Given the description of an element on the screen output the (x, y) to click on. 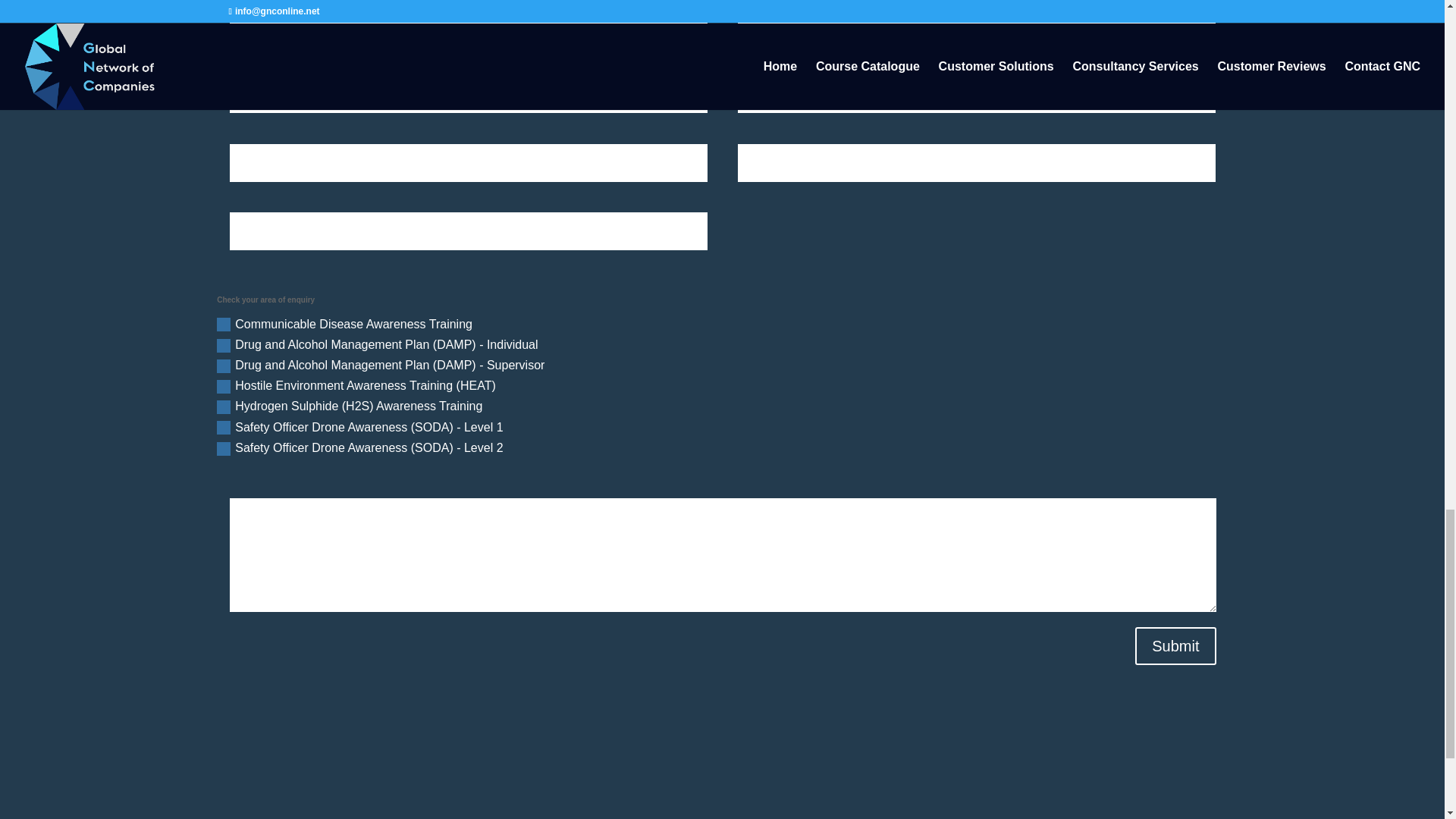
Submit (1175, 646)
